Given the description of an element on the screen output the (x, y) to click on. 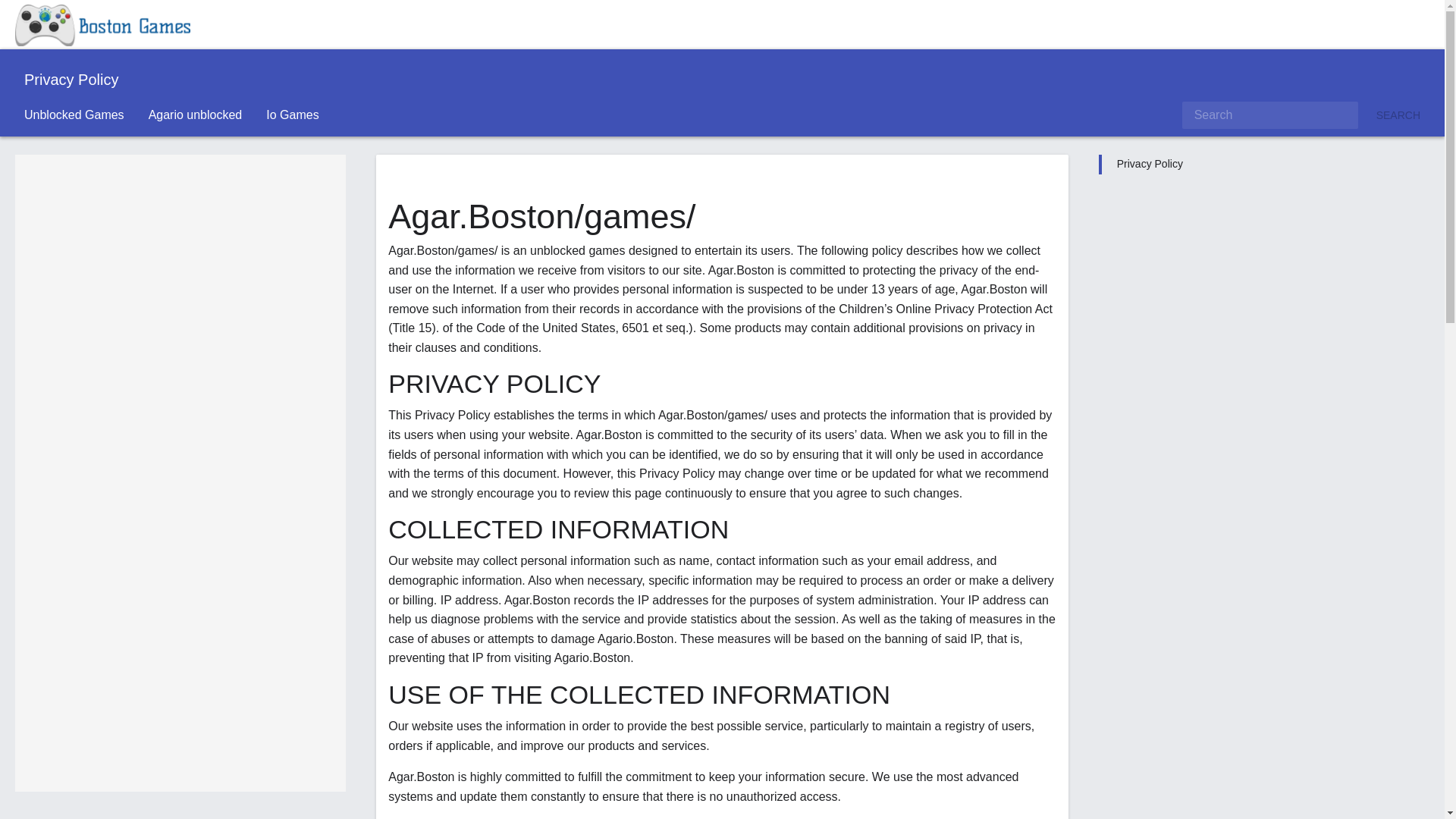
Unblocked Games (73, 114)
Io Games (291, 114)
SEARCH (1398, 114)
Unblocked Games (102, 24)
Privacy Policy (1149, 163)
Agario unblocked (195, 114)
Agario unblocked (195, 114)
Privacy Policy (1149, 163)
Unblocked Games (73, 114)
Io Games (291, 114)
